Given the description of an element on the screen output the (x, y) to click on. 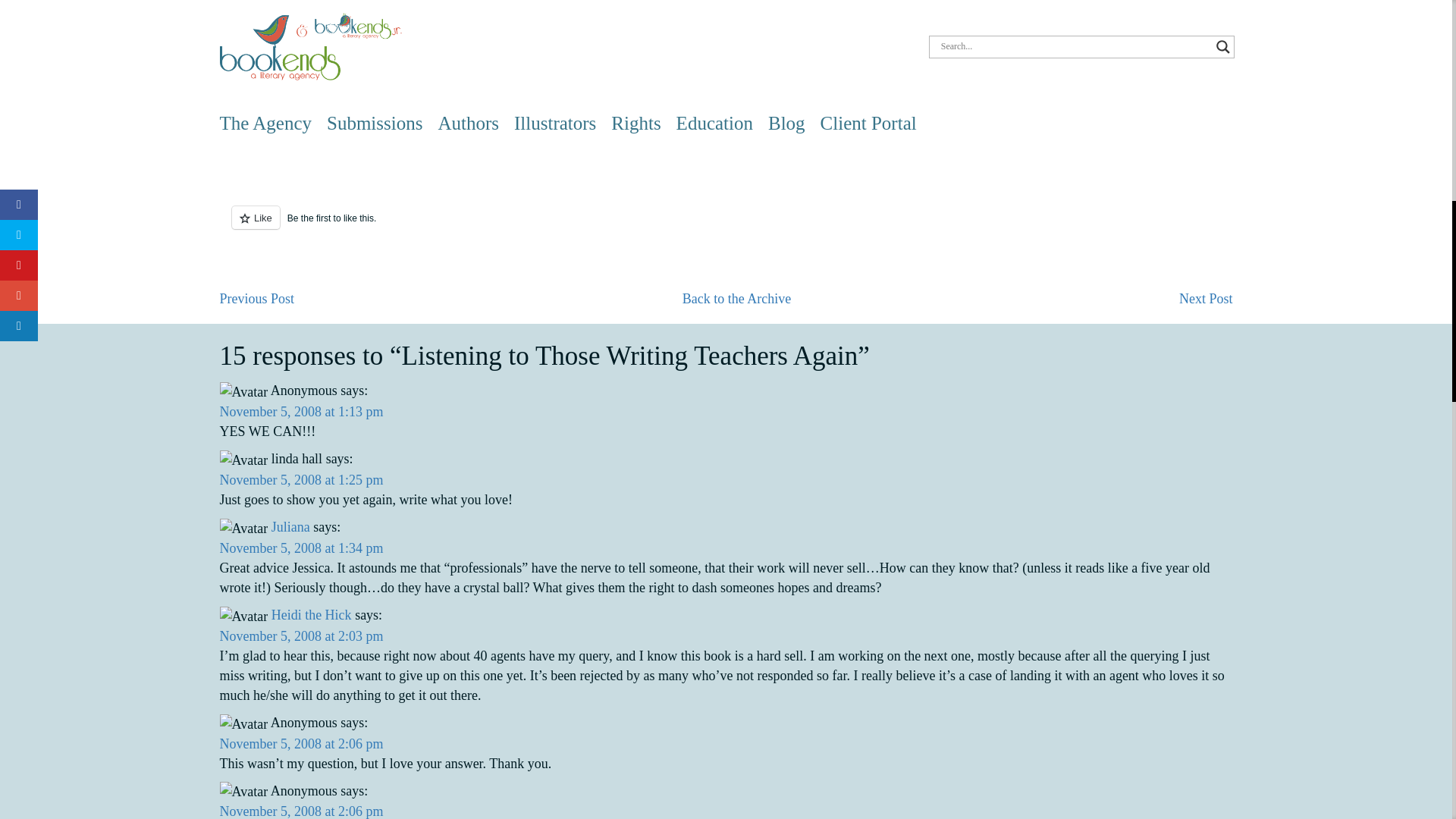
November 5, 2008 at 2:03 pm (301, 635)
Back to the Archive (736, 298)
November 5, 2008 at 1:13 pm (301, 411)
Previous Post (257, 298)
Click to share on LinkedIn (303, 139)
November 5, 2008 at 1:25 pm (301, 479)
November 5, 2008 at 1:34 pm (301, 548)
Next Post (1206, 298)
Click to share on Twitter (242, 139)
Heidi the Hick (311, 614)
Click to share on Facebook (272, 139)
November 5, 2008 at 2:06 pm (301, 743)
Like or Reblog (725, 226)
November 5, 2008 at 2:06 pm (301, 811)
Juliana (290, 526)
